Given the description of an element on the screen output the (x, y) to click on. 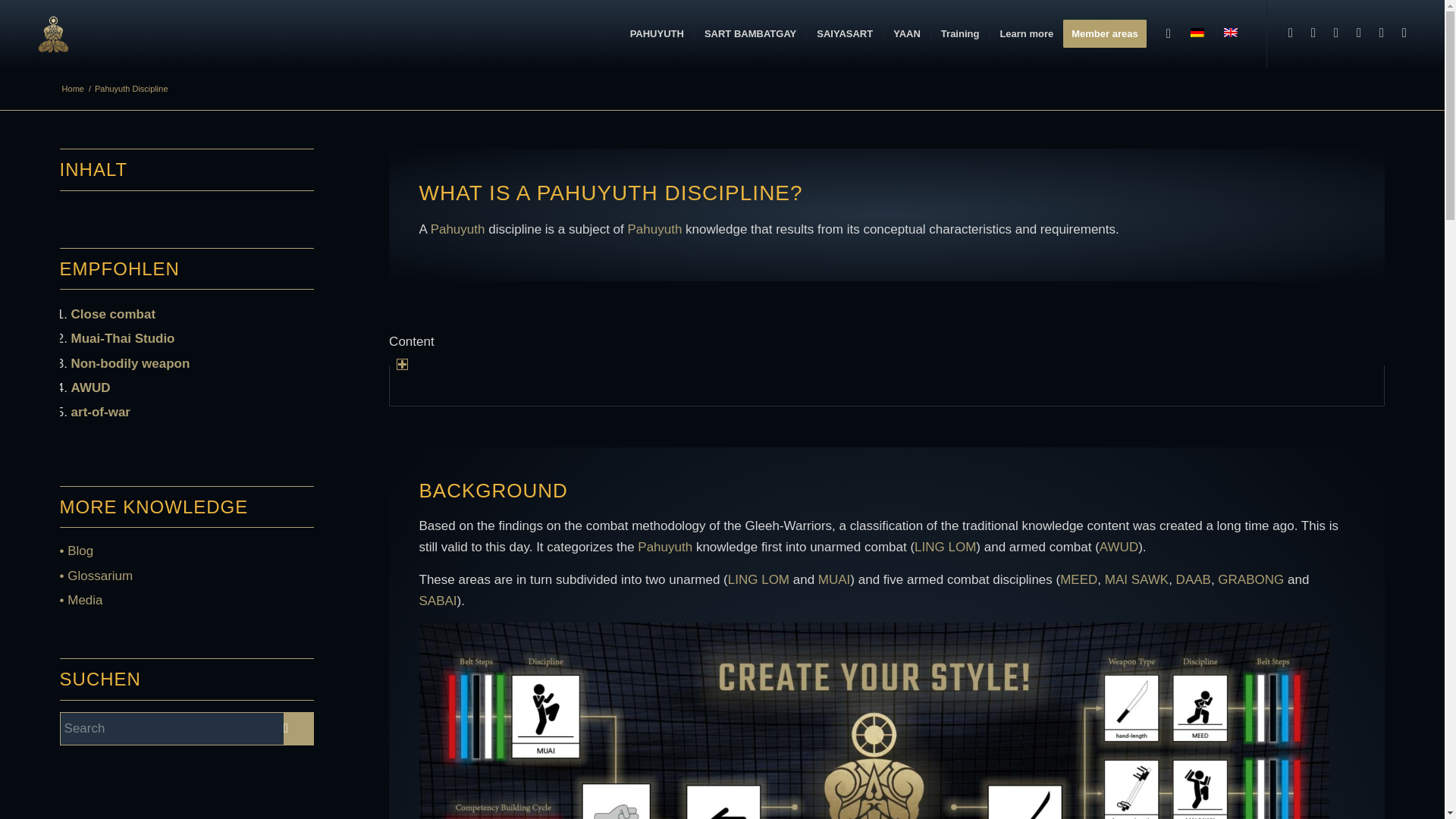
SART BAMBATGAY (750, 33)
English (1230, 31)
Member areas (1109, 33)
X (1359, 33)
Youtube (1336, 33)
PAHUYUTH (72, 89)
Learn more (1025, 33)
Deutsch (1197, 31)
Facebook (1290, 33)
Instagram (1312, 33)
